Given the description of an element on the screen output the (x, y) to click on. 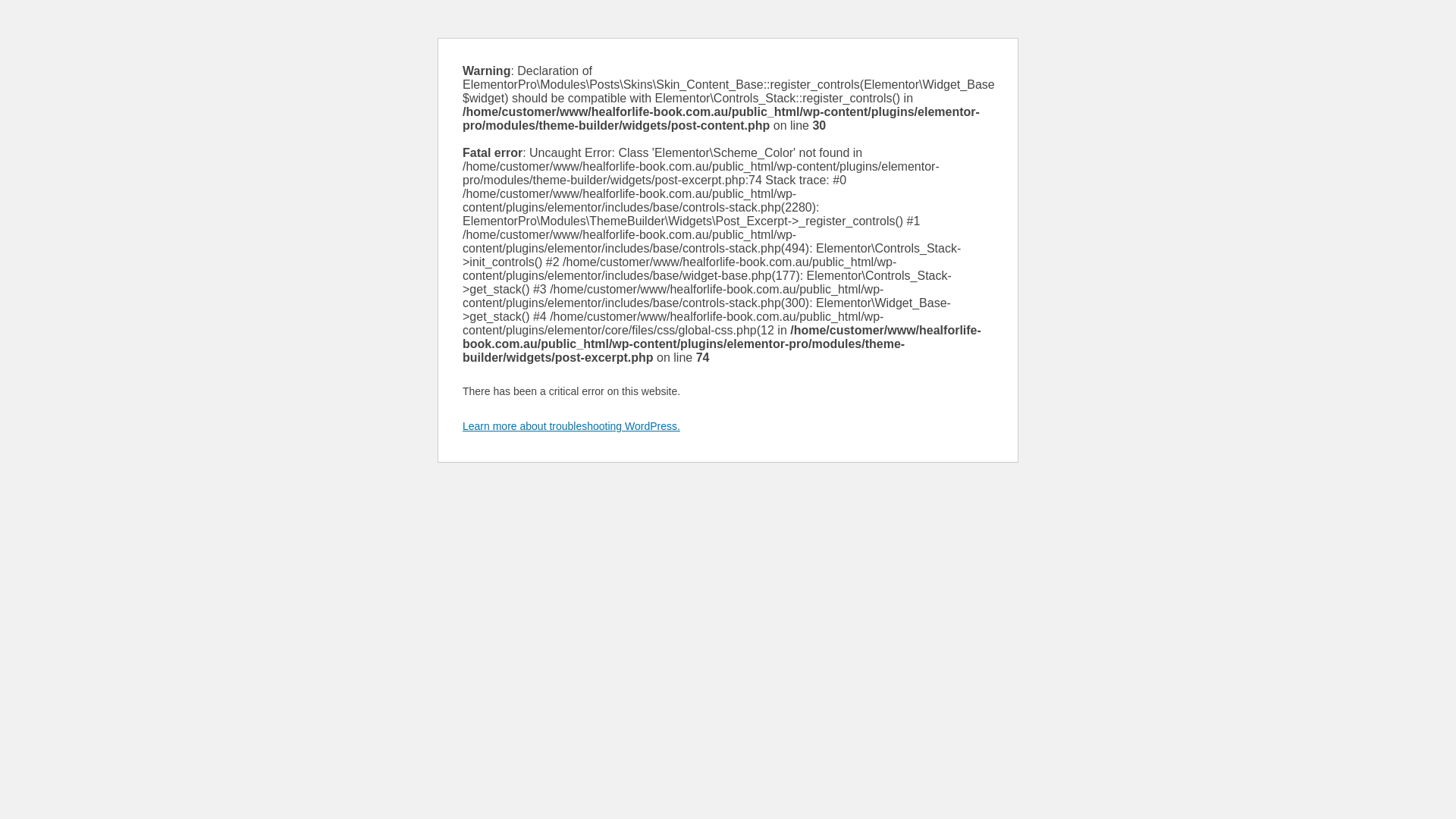
Learn more about troubleshooting WordPress. Element type: text (571, 426)
